Given the description of an element on the screen output the (x, y) to click on. 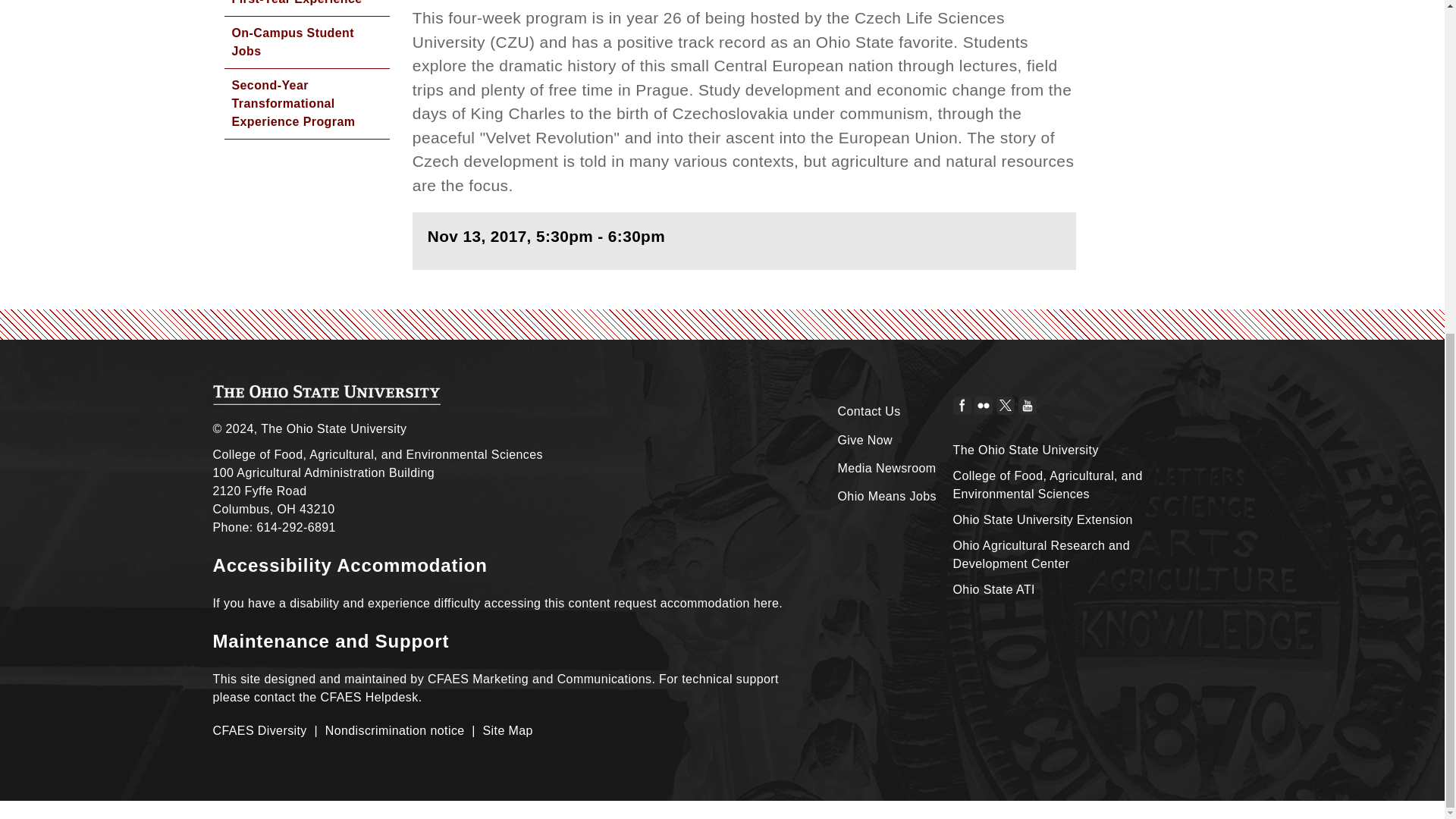
CFAES Home (325, 394)
